Given the description of an element on the screen output the (x, y) to click on. 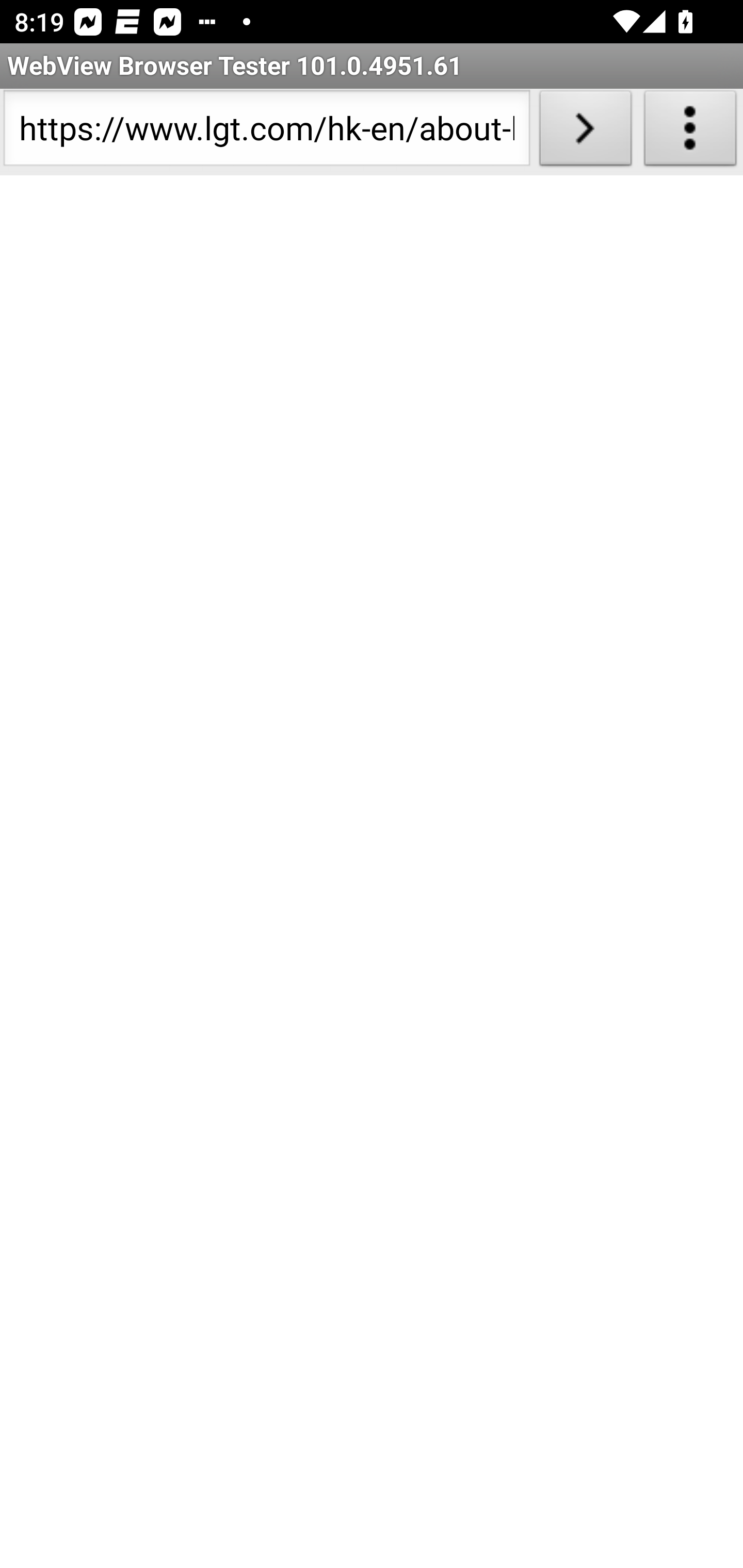
Load URL (585, 132)
About WebView (690, 132)
